Given the description of an element on the screen output the (x, y) to click on. 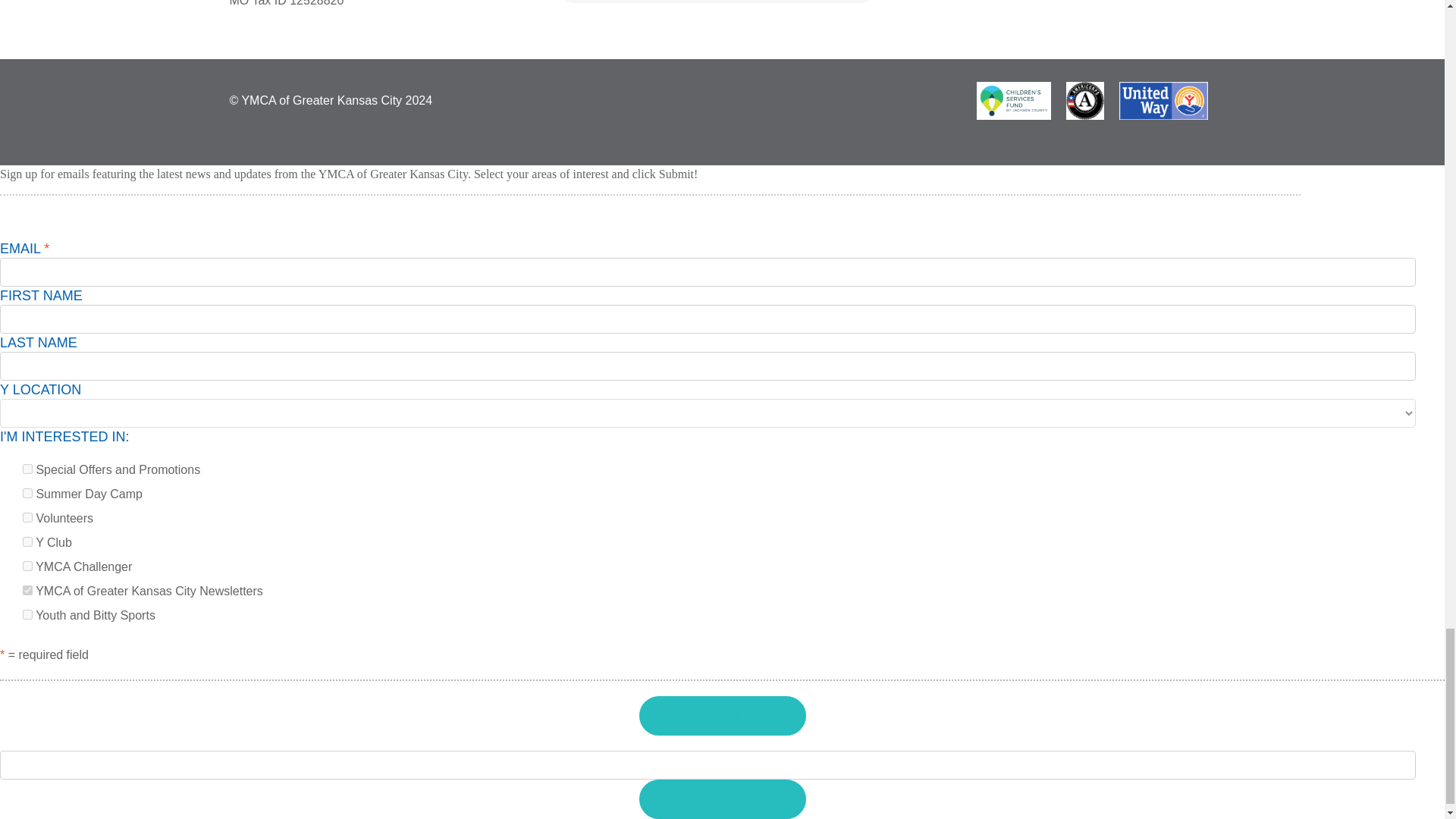
on (27, 517)
on (27, 542)
on (27, 614)
Submit (722, 715)
on (27, 469)
on (27, 565)
on (27, 590)
on (27, 492)
